Given the description of an element on the screen output the (x, y) to click on. 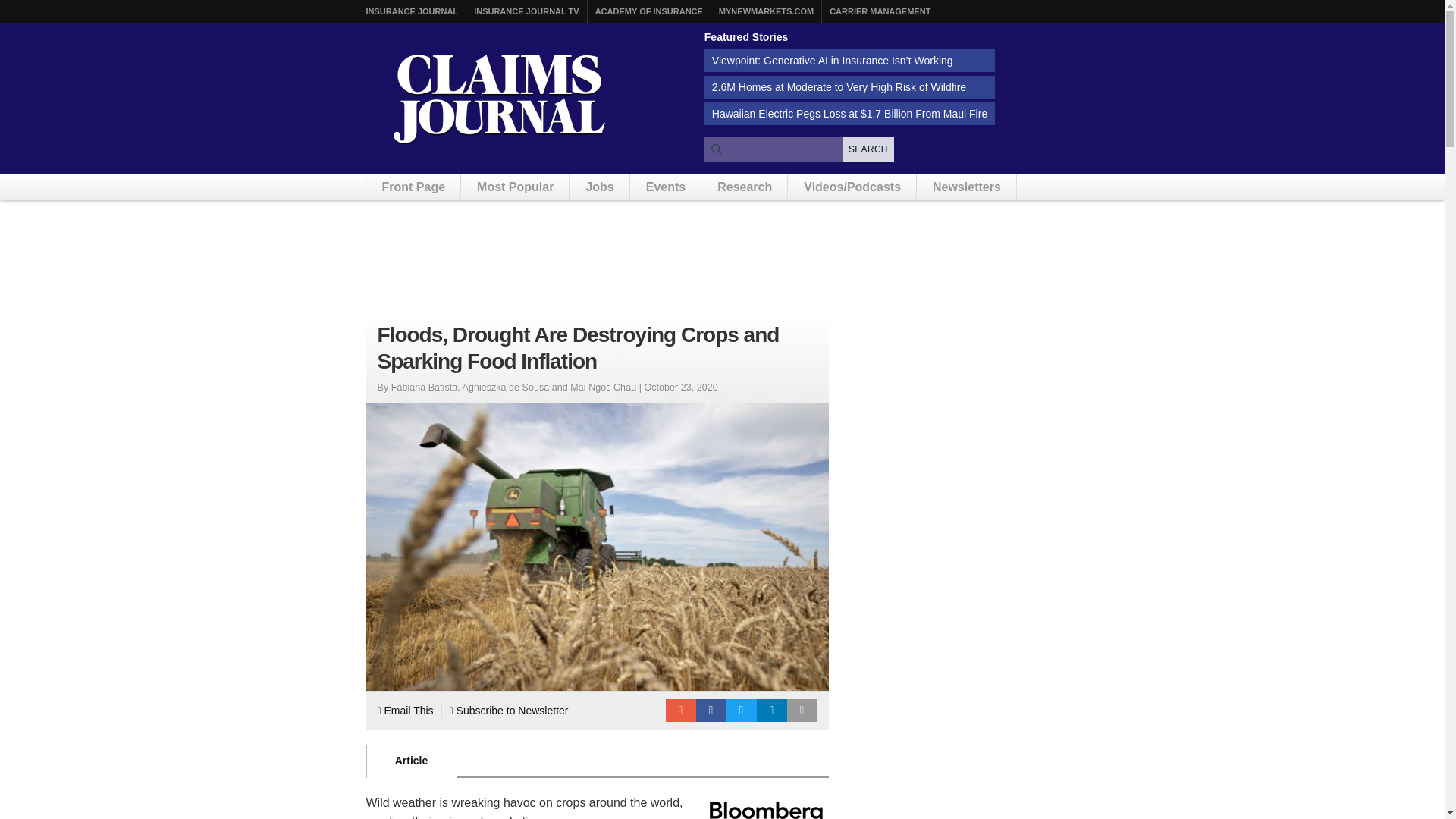
Email to a friend (680, 710)
Search latest claims industry news, trends and reports (798, 149)
Tweet (741, 710)
2.6M Homes at Moderate to Very High Risk of Wildfire (849, 87)
CARRIER MANAGEMENT (879, 11)
Events (665, 186)
Email This (405, 710)
Article (411, 761)
Front Page (413, 186)
SEARCH (868, 149)
